Given the description of an element on the screen output the (x, y) to click on. 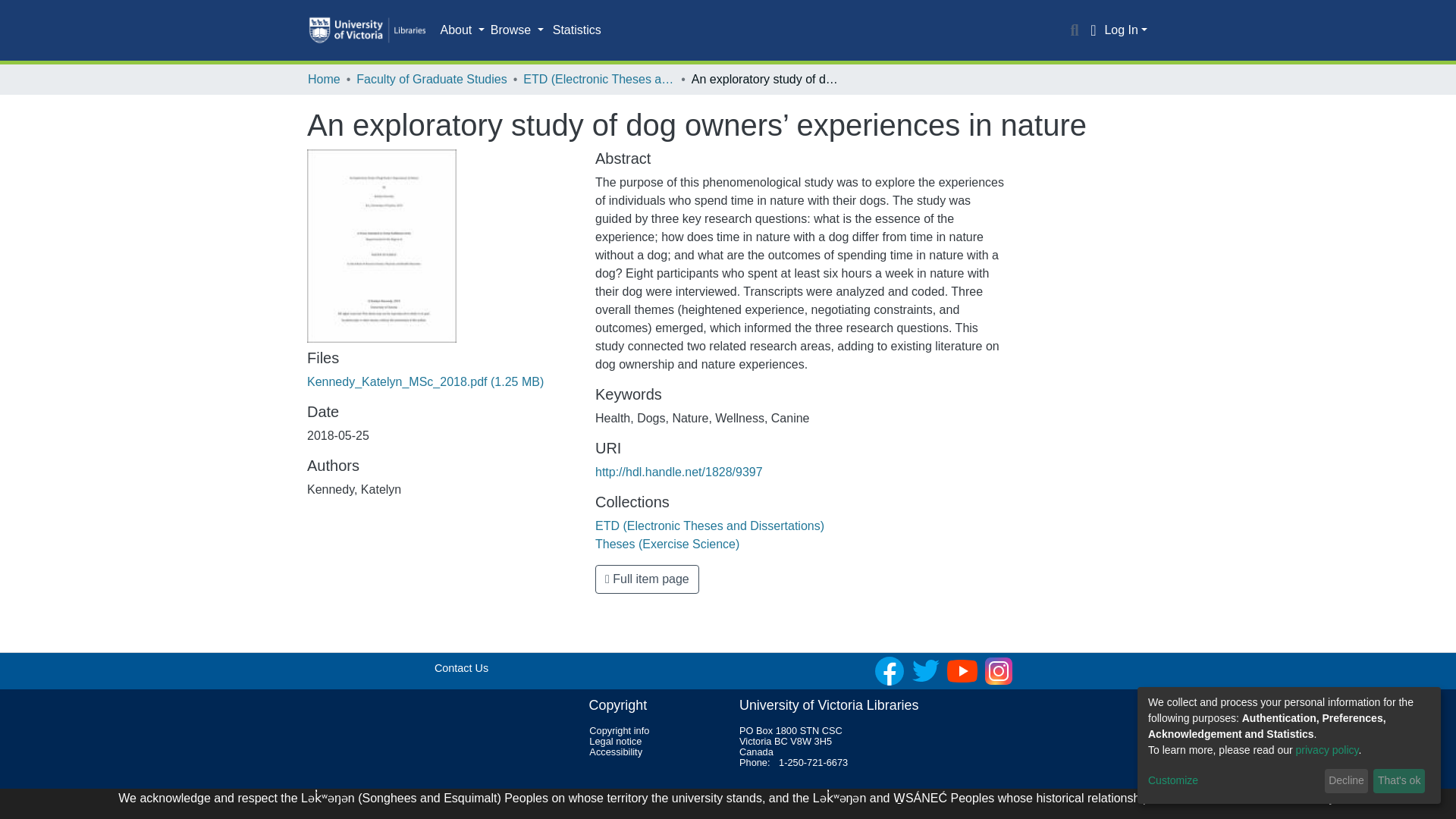
Search (1073, 30)
Full item page (646, 579)
Browse (517, 30)
About (461, 30)
Statistics (577, 30)
Language switch (1092, 30)
Home (323, 79)
Faculty of Graduate Studies (431, 79)
Statistics (577, 30)
Contact Us (461, 667)
Log In (1125, 29)
